Given the description of an element on the screen output the (x, y) to click on. 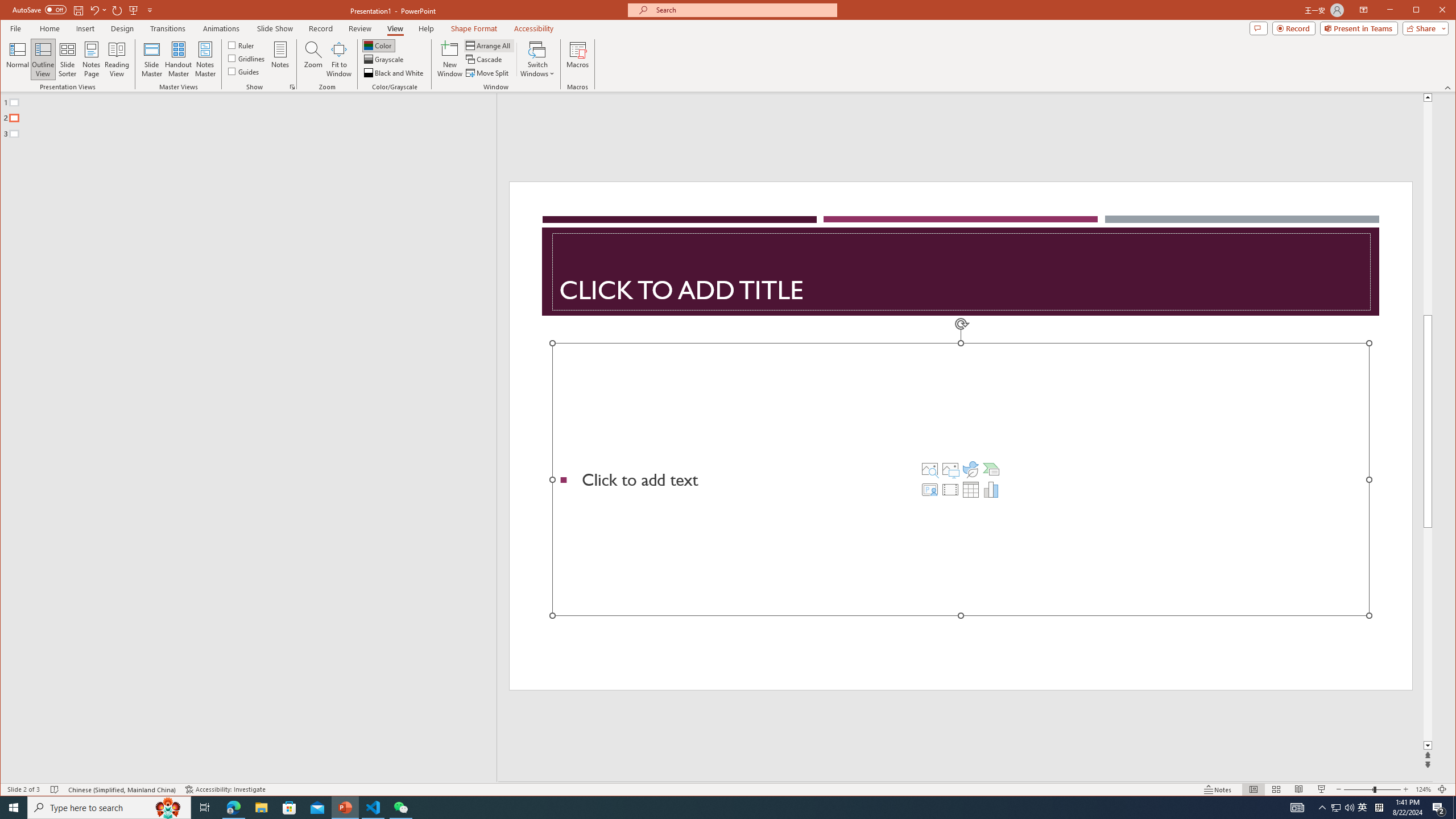
Microsoft Edge - 1 running window (233, 807)
Insert Cameo (929, 489)
Notes Master (204, 59)
Maximize (1432, 11)
Move Split (488, 72)
Notes Page (91, 59)
New Window (450, 59)
Insert an Icon (970, 469)
